Given the description of an element on the screen output the (x, y) to click on. 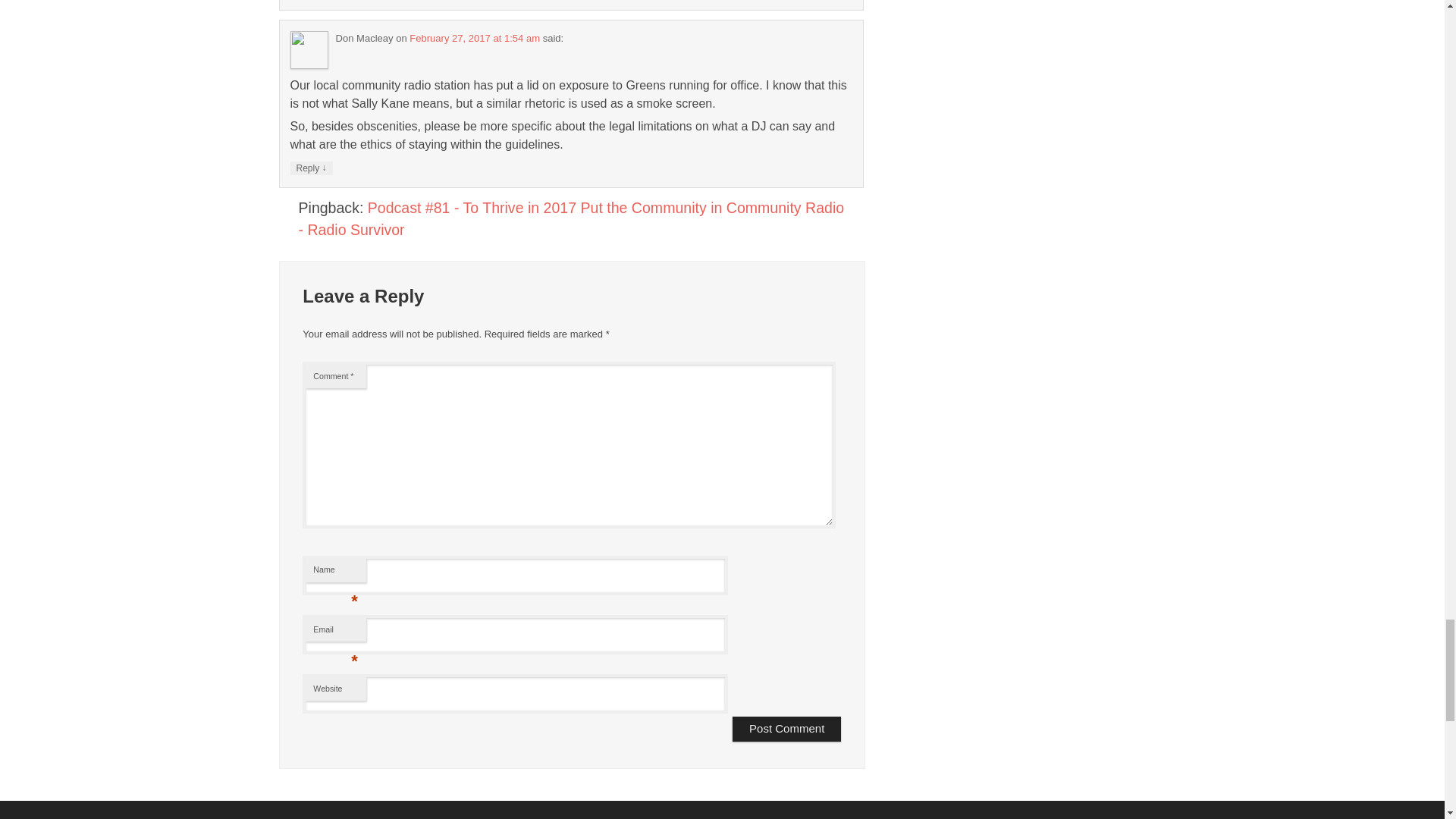
Post Comment (786, 729)
